Given the description of an element on the screen output the (x, y) to click on. 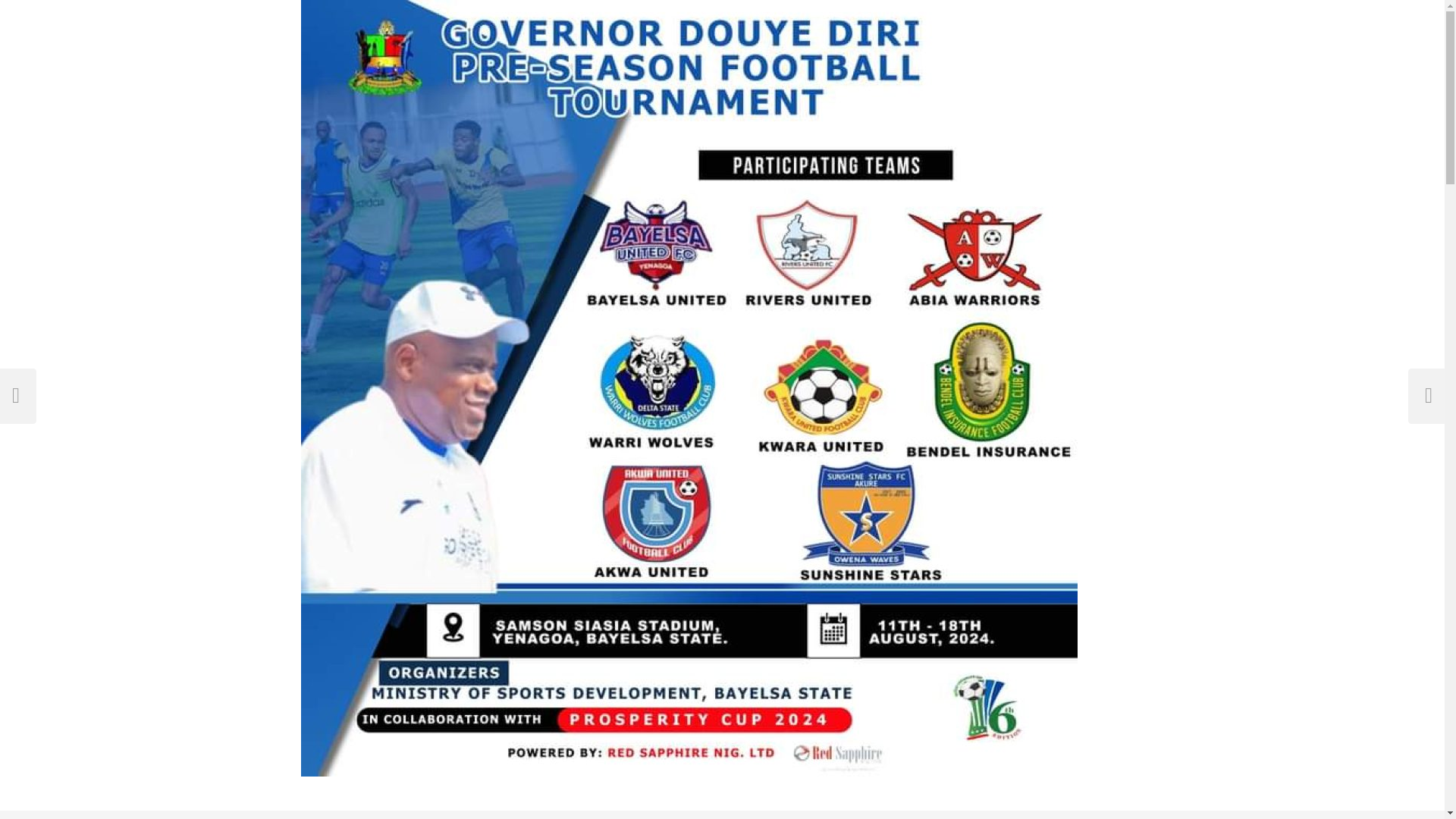
PRIVACY POLICY (537, 814)
Register (1116, 814)
ABOUT US (390, 814)
CONTACT US (457, 814)
Search (25, 13)
Sign in to your account (1064, 814)
ADVERTISE (328, 814)
Sign in (1064, 814)
Register for a new account (1116, 814)
